Given the description of an element on the screen output the (x, y) to click on. 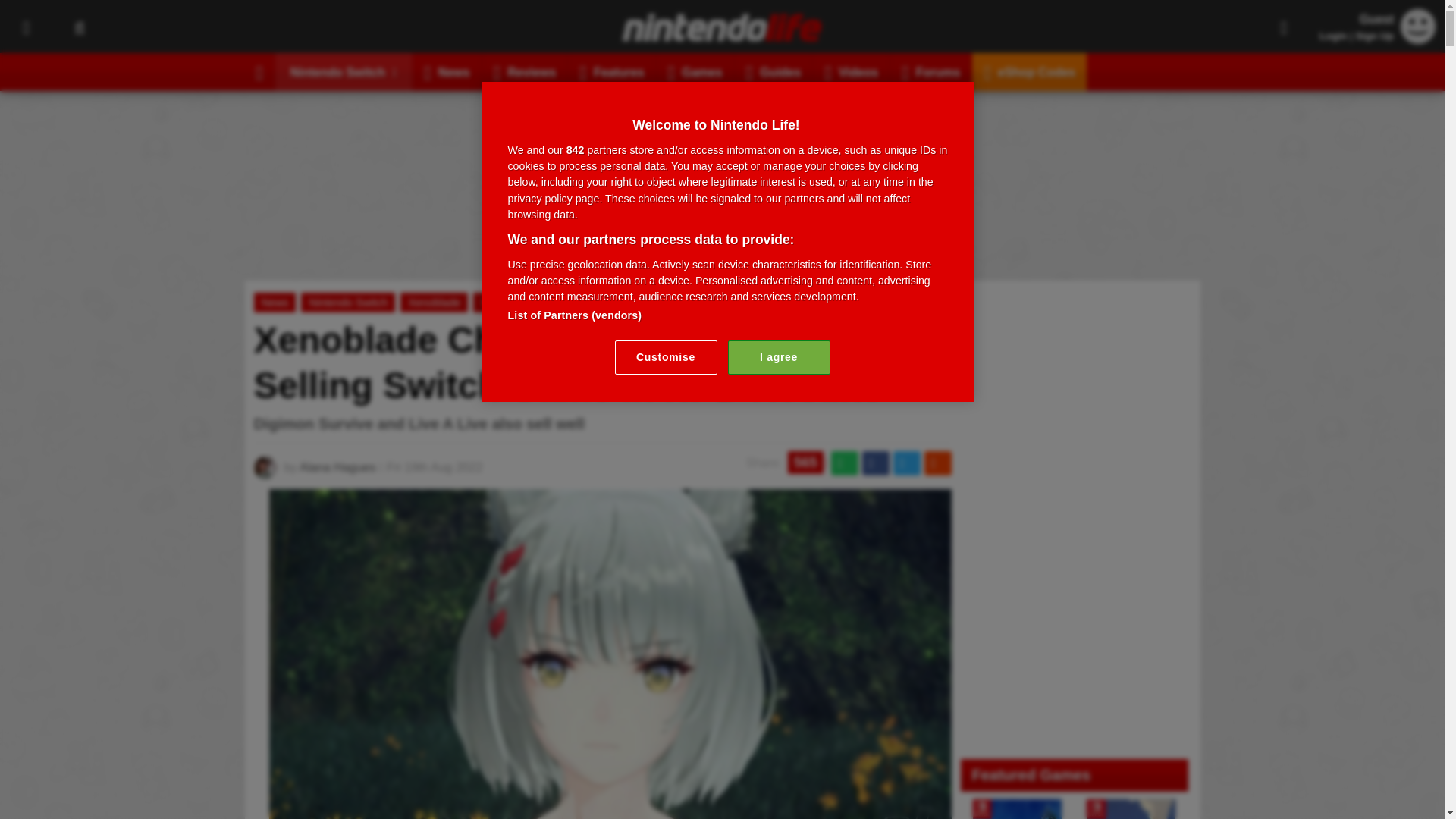
Reviews (525, 71)
Games (695, 71)
Sign Up (1374, 35)
News (446, 71)
Videos (850, 71)
Guides (774, 71)
Nintendo Switch (344, 71)
Guest (1417, 39)
Search (79, 26)
eShop Codes (1029, 71)
Share This Page (1283, 26)
Guest (1417, 26)
Features (611, 71)
Topics (26, 26)
Nintendo Life (721, 27)
